Given the description of an element on the screen output the (x, y) to click on. 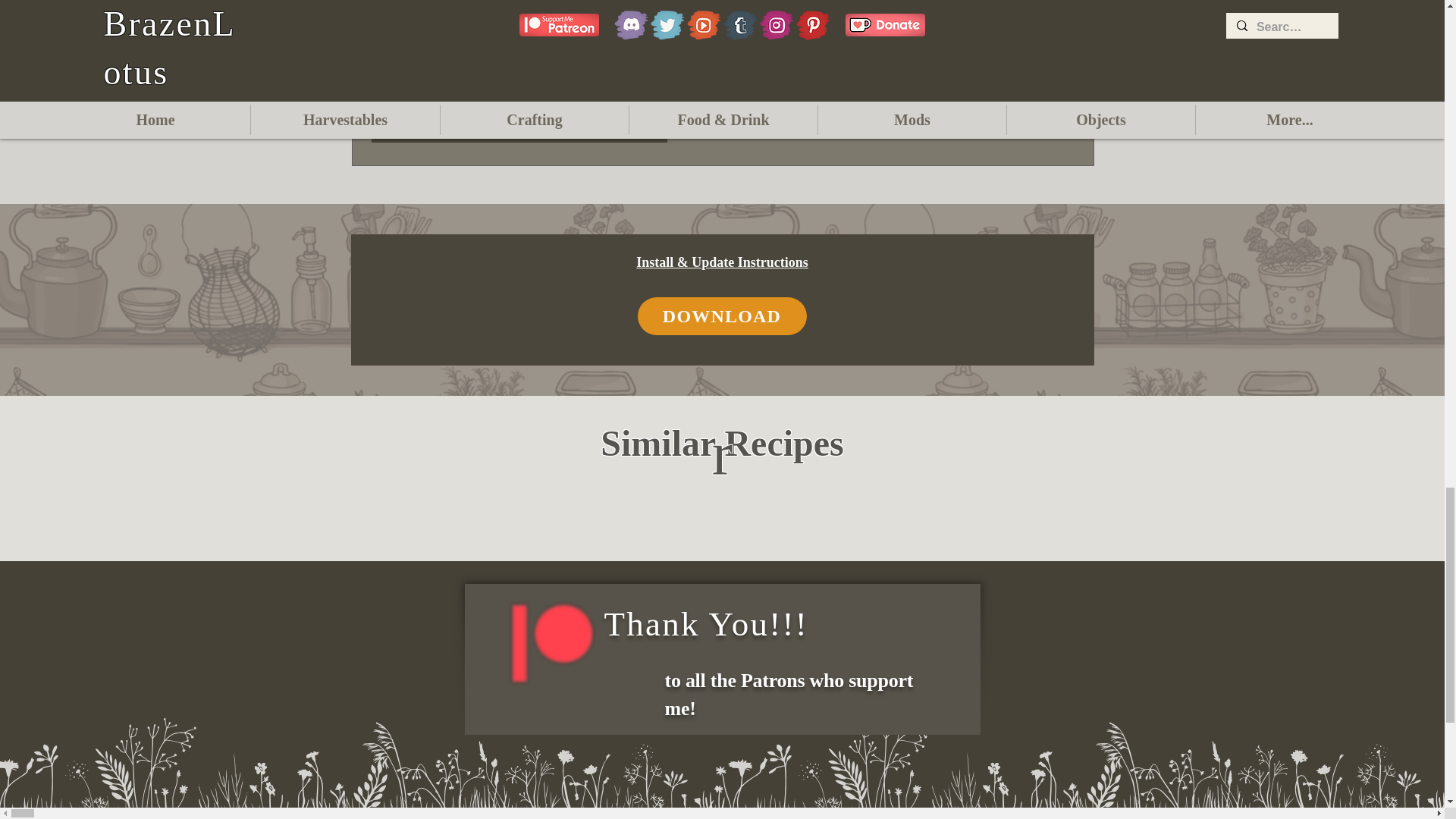
Thank You!!! (706, 623)
DOWNLOAD (721, 315)
to all the Patrons who support me! (787, 694)
